Given the description of an element on the screen output the (x, y) to click on. 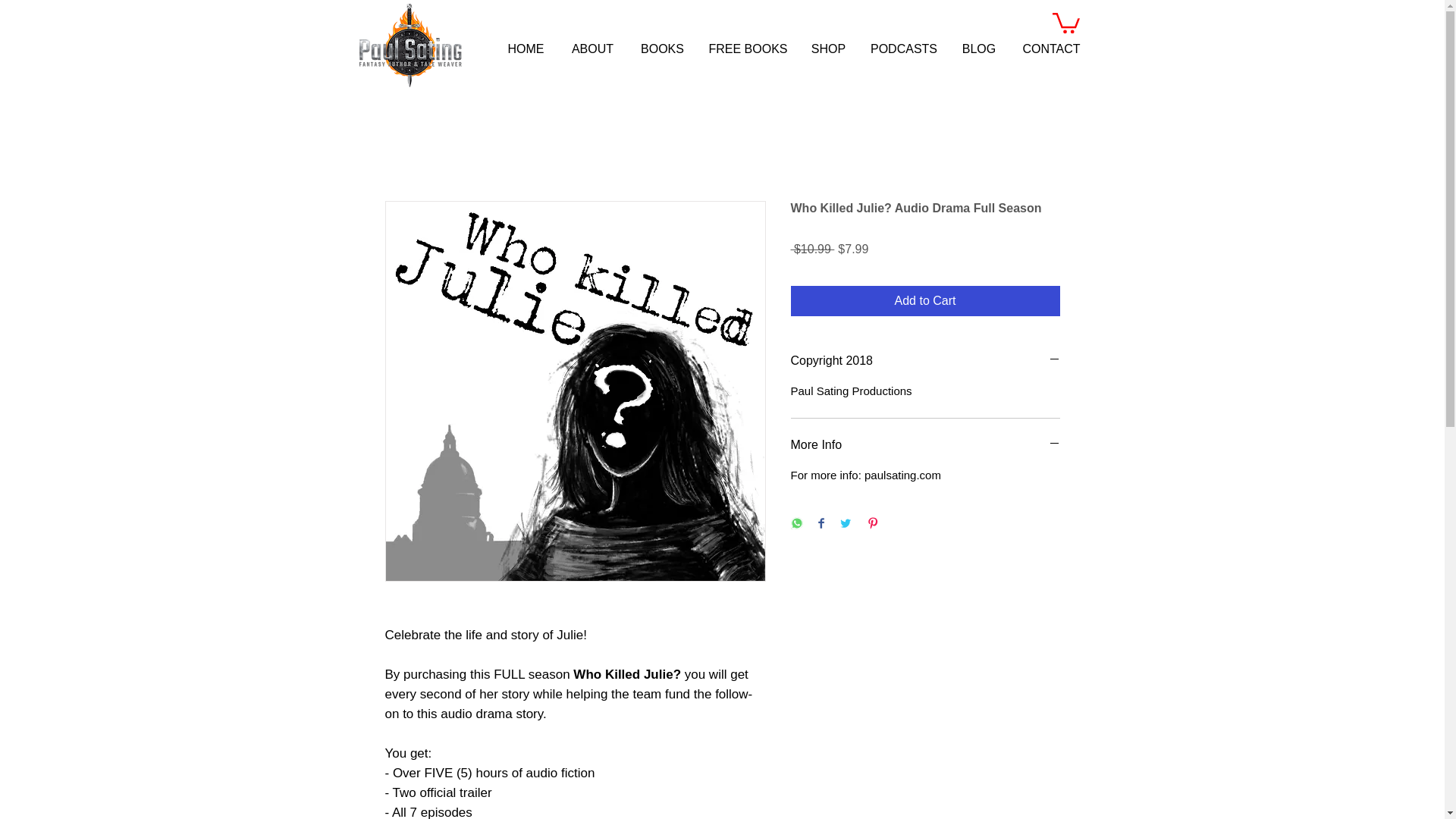
PODCASTS (904, 48)
HOME (526, 48)
Copyright 2018 (924, 360)
BLOG (979, 48)
CONTACT (1051, 48)
Add to Cart (924, 300)
More Info (924, 444)
SHOP (828, 48)
FREE BOOKS (747, 48)
ABOUT (592, 48)
